Given the description of an element on the screen output the (x, y) to click on. 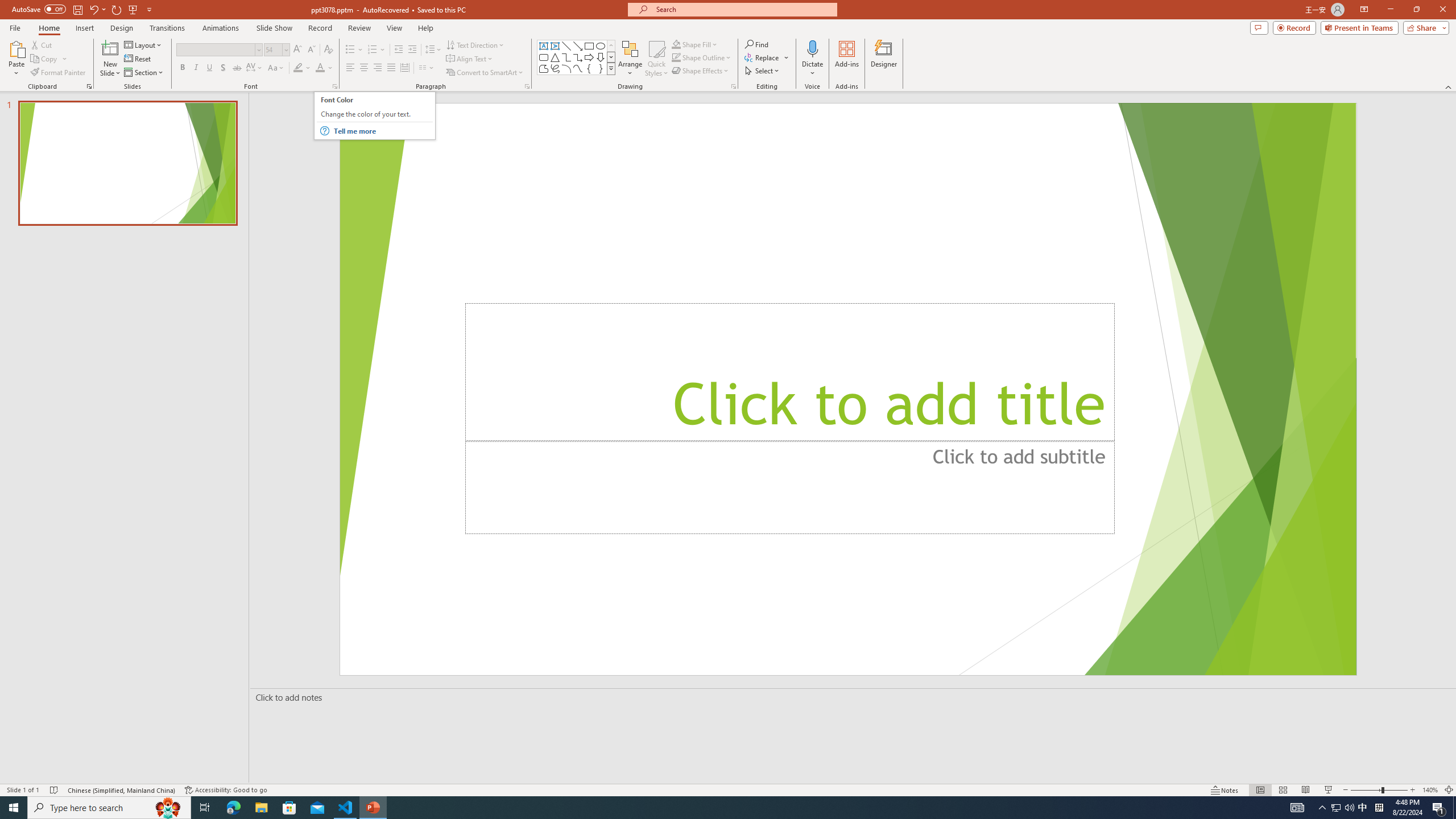
Line (566, 45)
Format Object... (733, 85)
Rectangle: Rounded Corners (543, 57)
Align Text (470, 58)
Font Size (276, 49)
Zoom 140% (1430, 790)
Arrange (630, 58)
Copy (49, 58)
Reading View (1305, 790)
Save (77, 9)
Text Box (543, 45)
Microsoft search (742, 9)
Shapes (611, 68)
Quick Styles (656, 58)
